Given the description of an element on the screen output the (x, y) to click on. 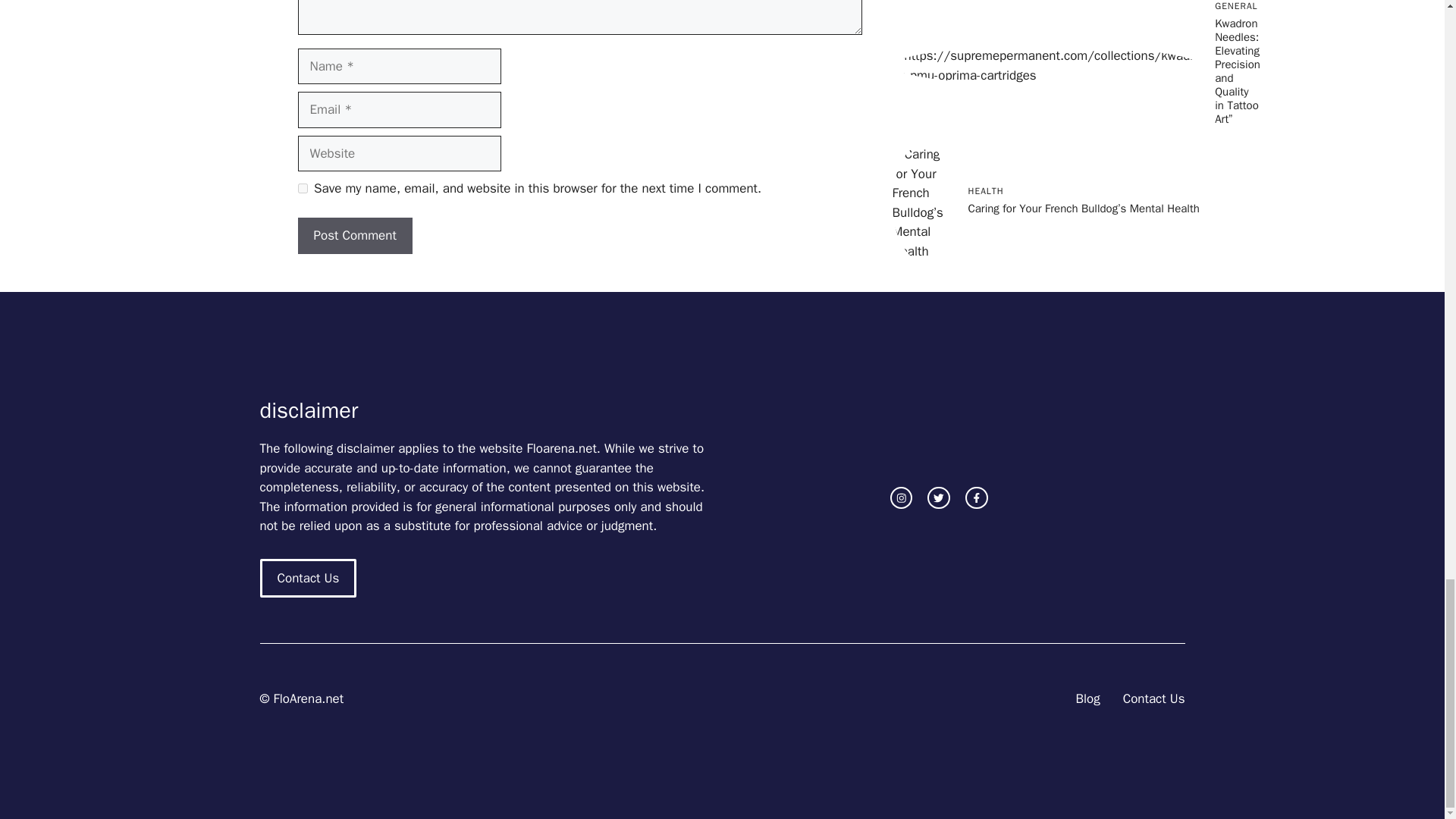
yes (302, 188)
Post Comment (354, 235)
Post Comment (354, 235)
